Given the description of an element on the screen output the (x, y) to click on. 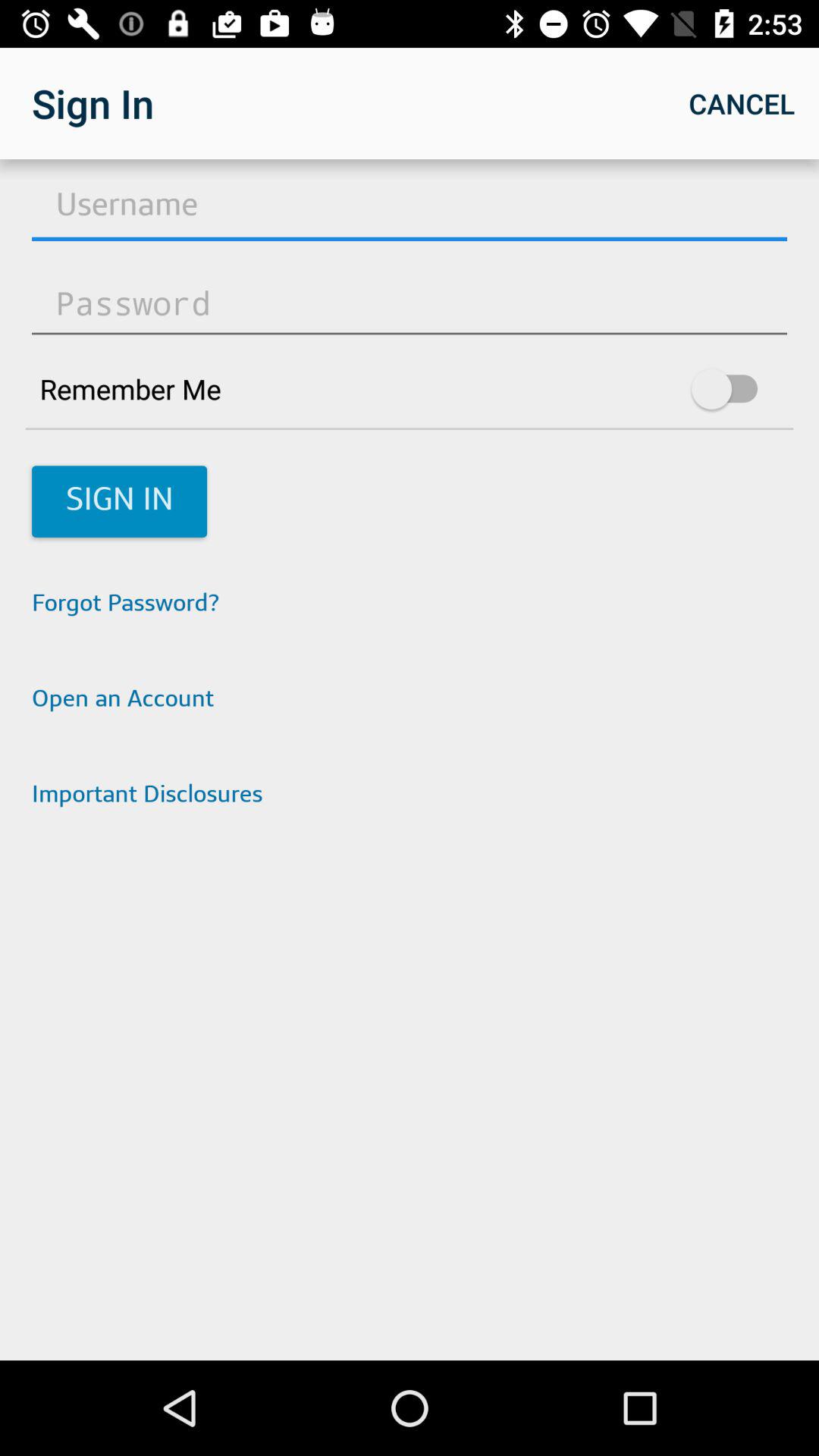
open remember me item (409, 388)
